Given the description of an element on the screen output the (x, y) to click on. 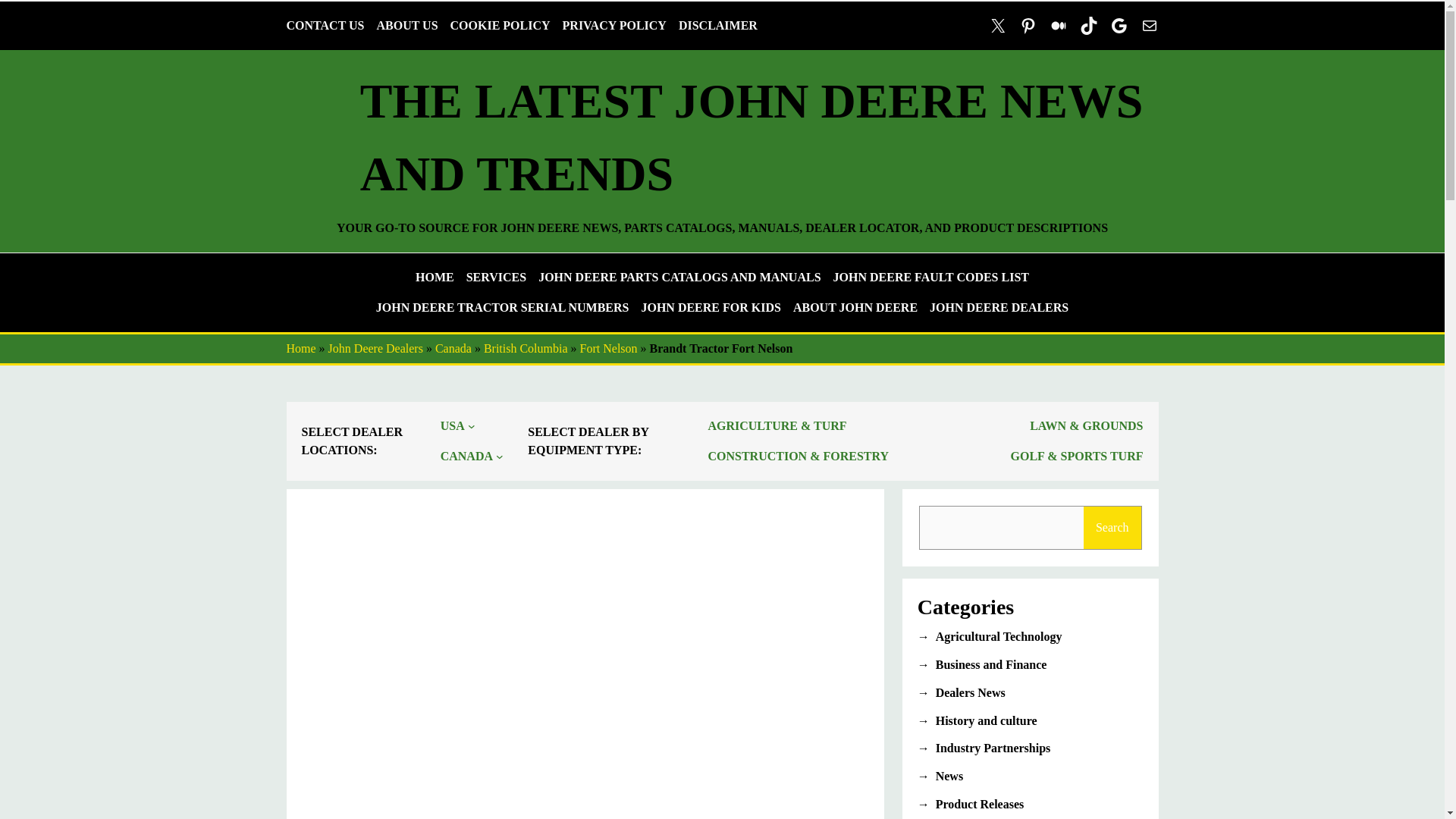
TikTok (1088, 25)
THE LATEST JOHN DEERE NEWS AND TRENDS (750, 137)
X (997, 25)
JOHN DEERE PARTS CATALOGS AND MANUALS (679, 277)
SERVICES (495, 277)
CONTACT US (325, 25)
HOME (434, 277)
JOHN DEERE FAULT CODES LIST (930, 277)
DISCLAIMER (717, 25)
Google (1118, 25)
